Given the description of an element on the screen output the (x, y) to click on. 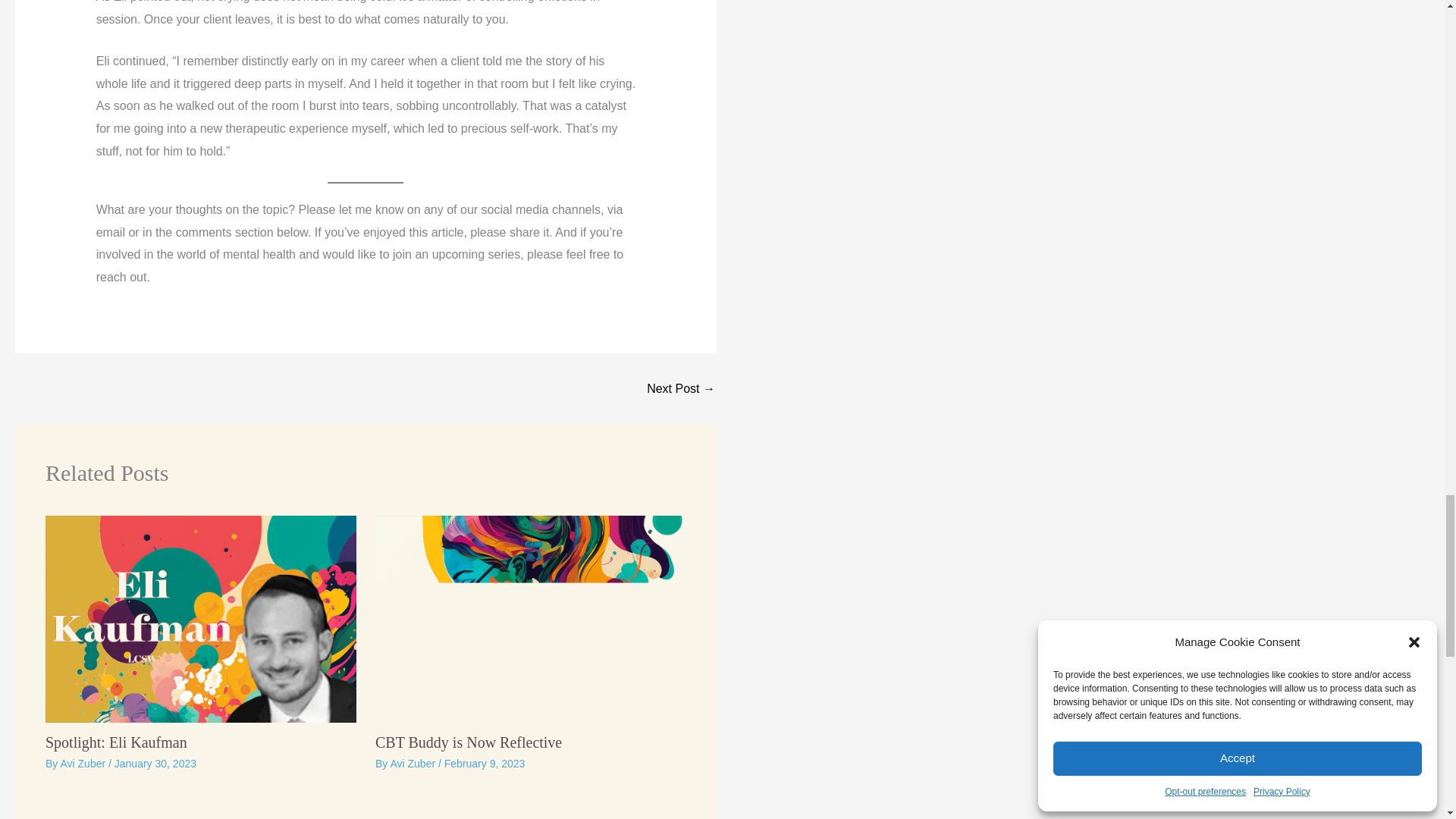
Avi Zuber (83, 763)
CBT Buddy is Now Reflective (468, 742)
View all posts by Avi Zuber (414, 763)
View all posts by Avi Zuber (83, 763)
Spotlight: Eli Kaufman (116, 742)
Spotlight: Eli Kaufman (680, 388)
